Given the description of an element on the screen output the (x, y) to click on. 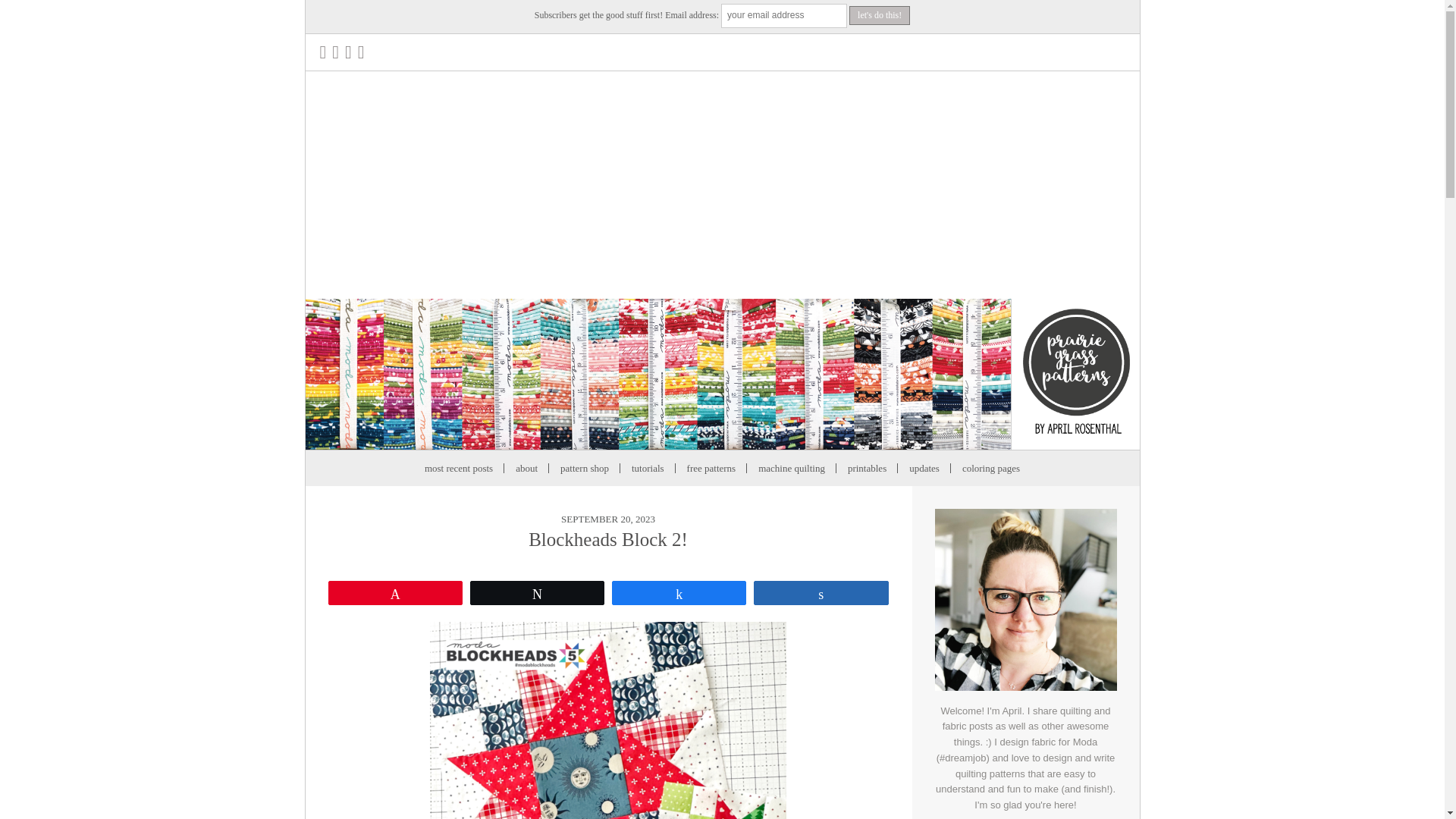
tutorials (647, 468)
printables (866, 468)
Let's do this! (879, 15)
machine quilting (790, 468)
SEPTEMBER 20, 2023 (607, 517)
updates (924, 468)
pattern shop (584, 468)
most recent posts (458, 468)
tutorials (647, 468)
about (525, 468)
about (525, 468)
Let's do this! (879, 15)
machine quilting (790, 468)
printables (866, 468)
